Given the description of an element on the screen output the (x, y) to click on. 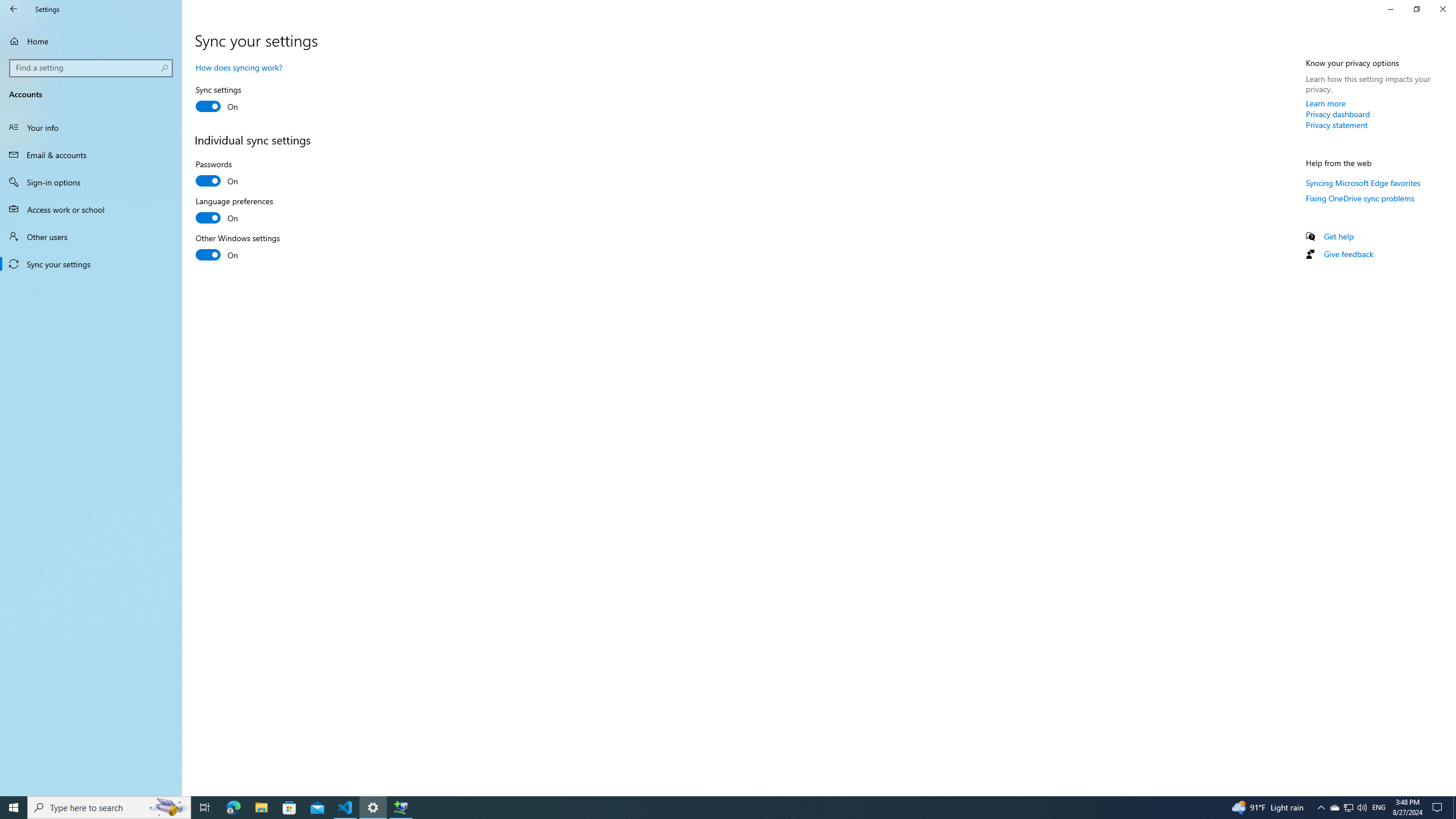
Settings - 1 running window (373, 807)
Tray Input Indicator - English (United States) (1378, 807)
Fixing OneDrive sync problems (1359, 197)
Microsoft Store (289, 807)
Syncing Microsoft Edge favorites (1333, 807)
Start (1363, 182)
Task View (13, 807)
Your info (204, 807)
Privacy dashboard (91, 126)
Notification Chevron (1338, 113)
Action Center, No new notifications (1320, 807)
Email & accounts (1439, 807)
